Given the description of an element on the screen output the (x, y) to click on. 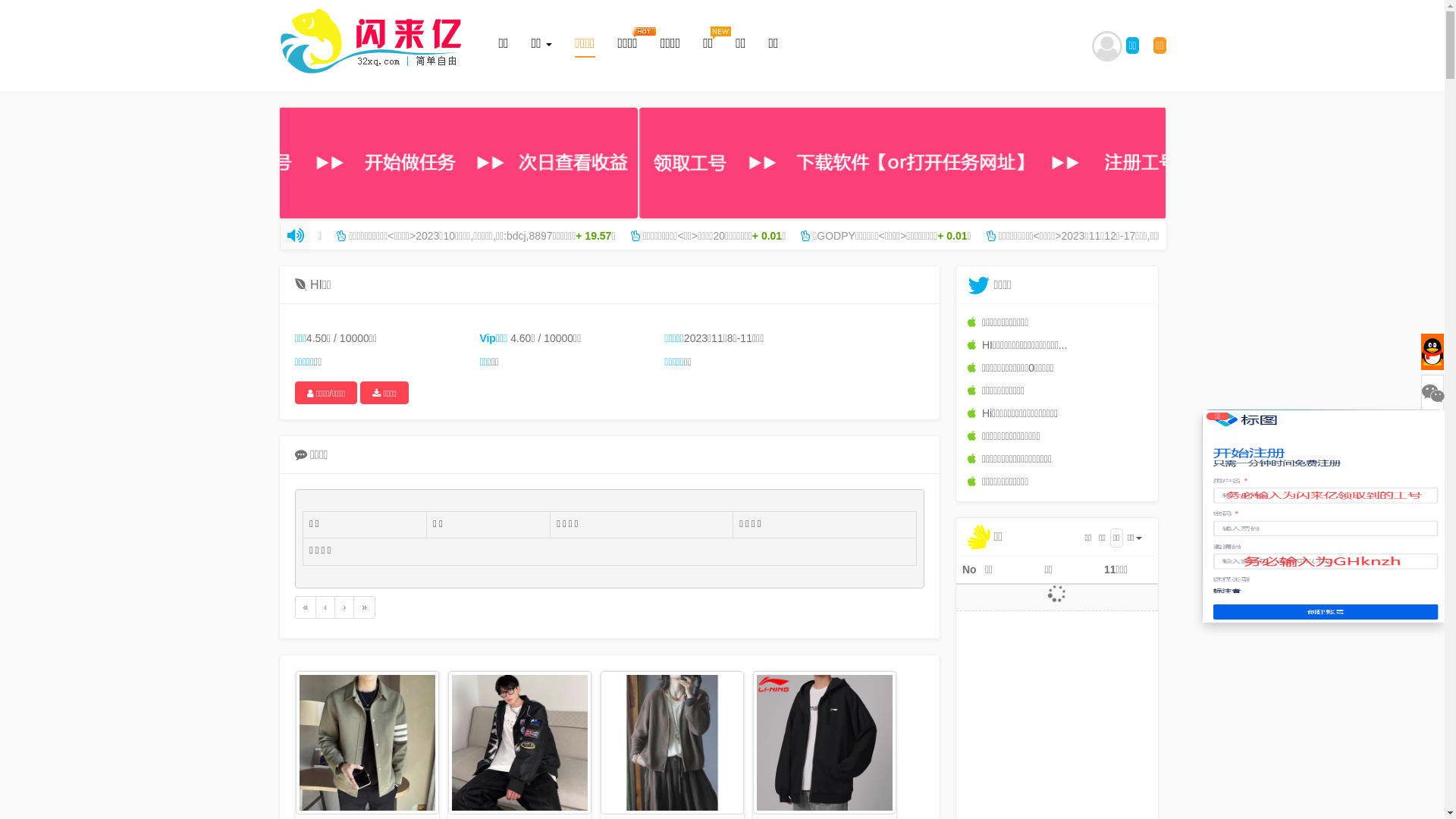
0 Element type: text (1107, 53)
